Given the description of an element on the screen output the (x, y) to click on. 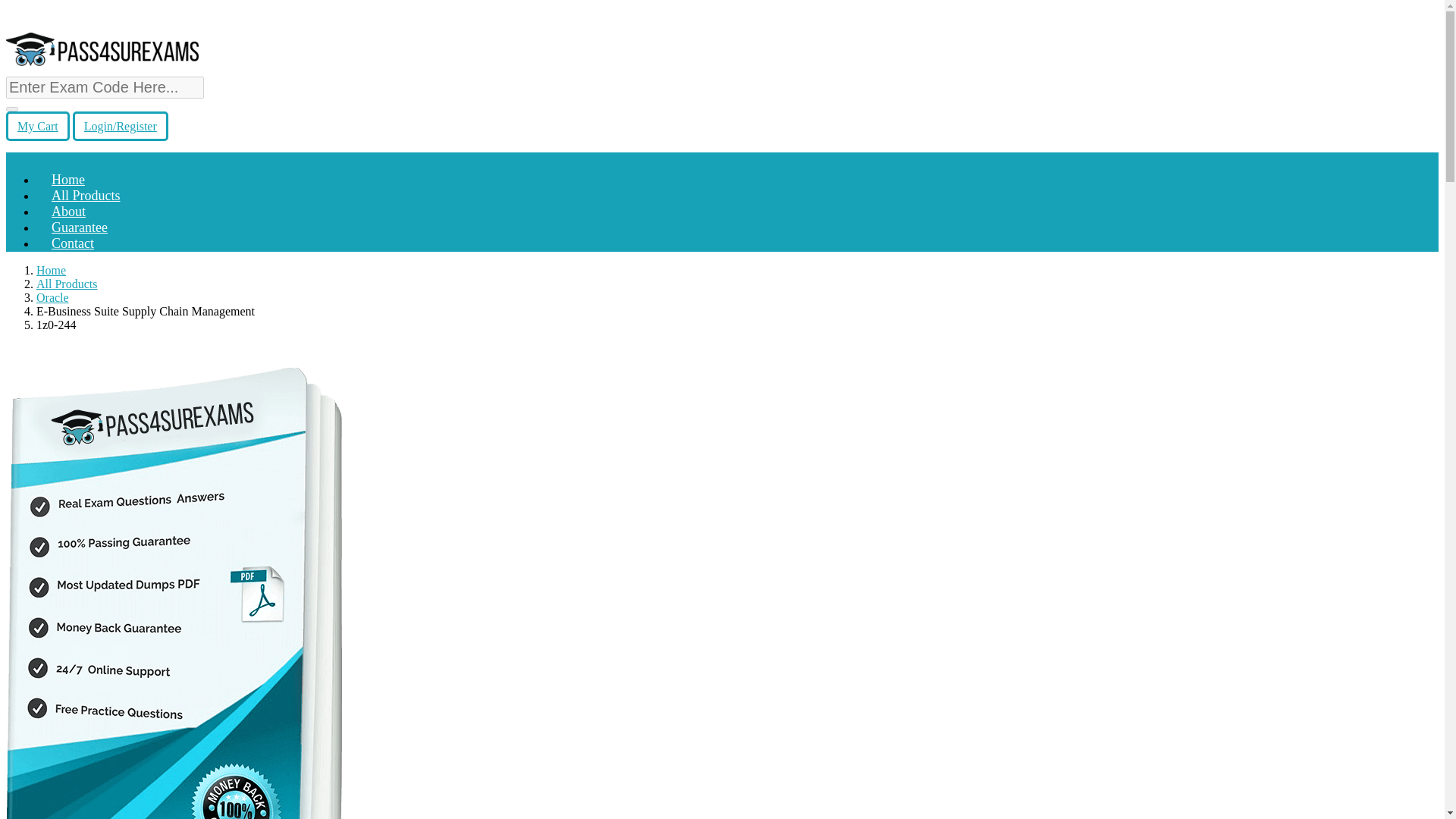
Guarantee (79, 227)
About (68, 211)
All Products (85, 195)
Home (68, 179)
Oracle (52, 297)
My Cart (37, 125)
All Products (66, 283)
Pass4surexams Logo (102, 49)
Home (50, 269)
Contact (72, 242)
